Given the description of an element on the screen output the (x, y) to click on. 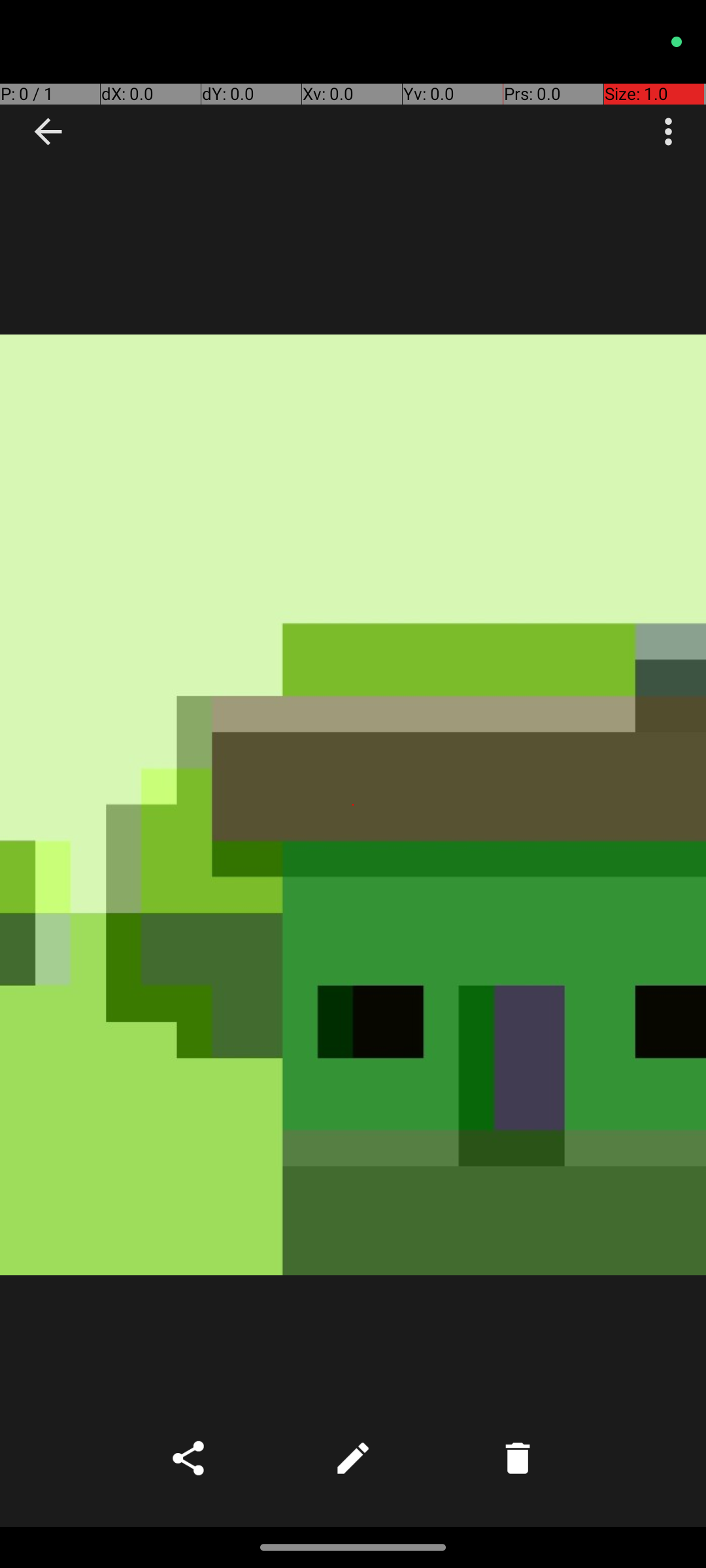
Photo taken on Oct 15, 2023 15:34:18 Element type: android.widget.ImageView (353, 804)
